Given the description of an element on the screen output the (x, y) to click on. 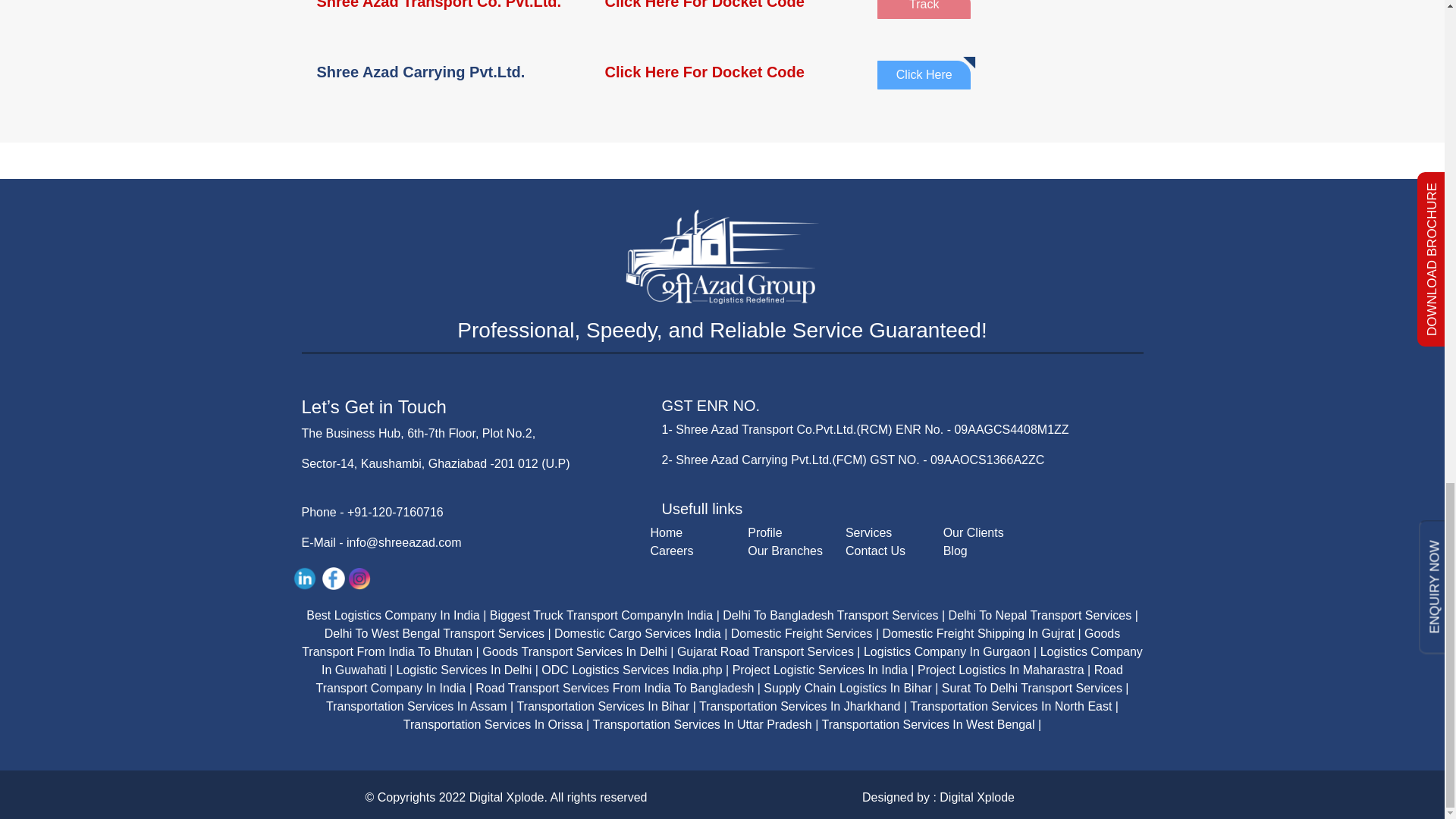
Delhi To Nepal Transport Services (1040, 615)
Blog (955, 550)
Services (868, 532)
Our Branches (785, 550)
Profile (764, 532)
Best Logistics Company In India (392, 615)
Biggest Truck Transport CompanyIn India (601, 615)
Contact Us (875, 550)
Click Here For Docket Code (721, 71)
Careers (672, 550)
